Given the description of an element on the screen output the (x, y) to click on. 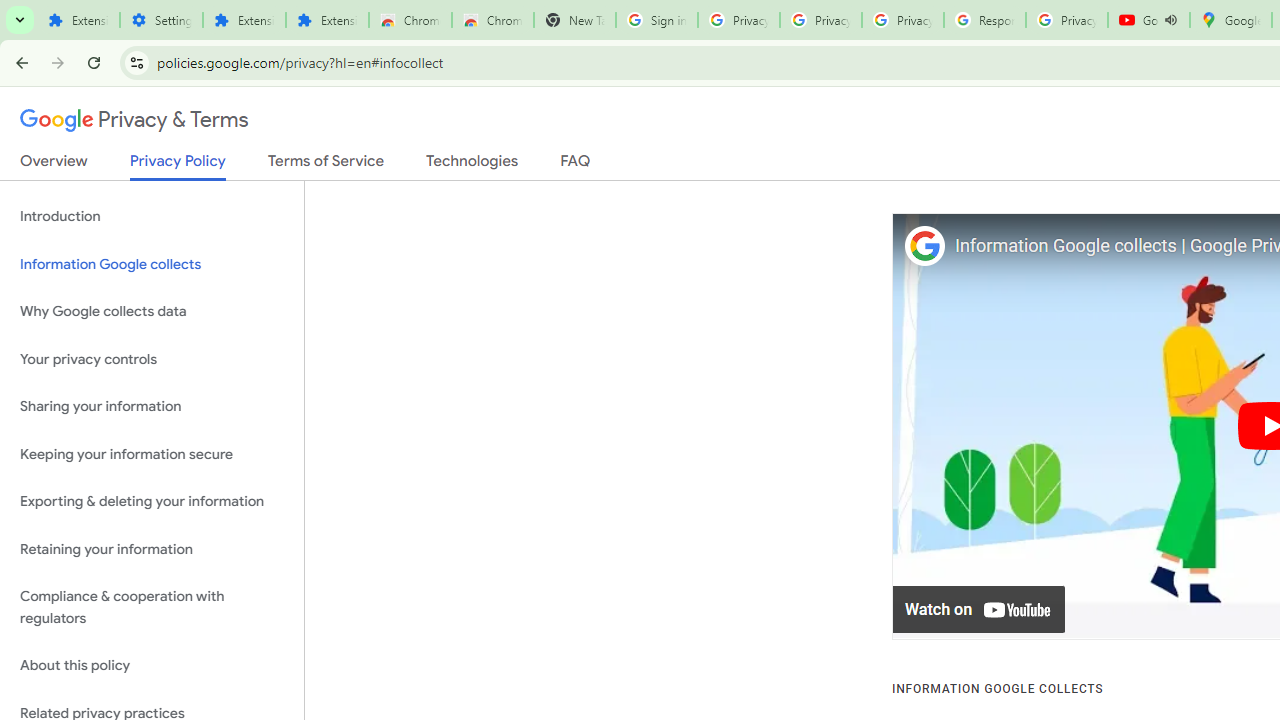
Information Google collects (152, 263)
Mute tab (1170, 20)
Settings (161, 20)
Sharing your information (152, 407)
Why Google collects data (152, 312)
New Tab (574, 20)
